Given the description of an element on the screen output the (x, y) to click on. 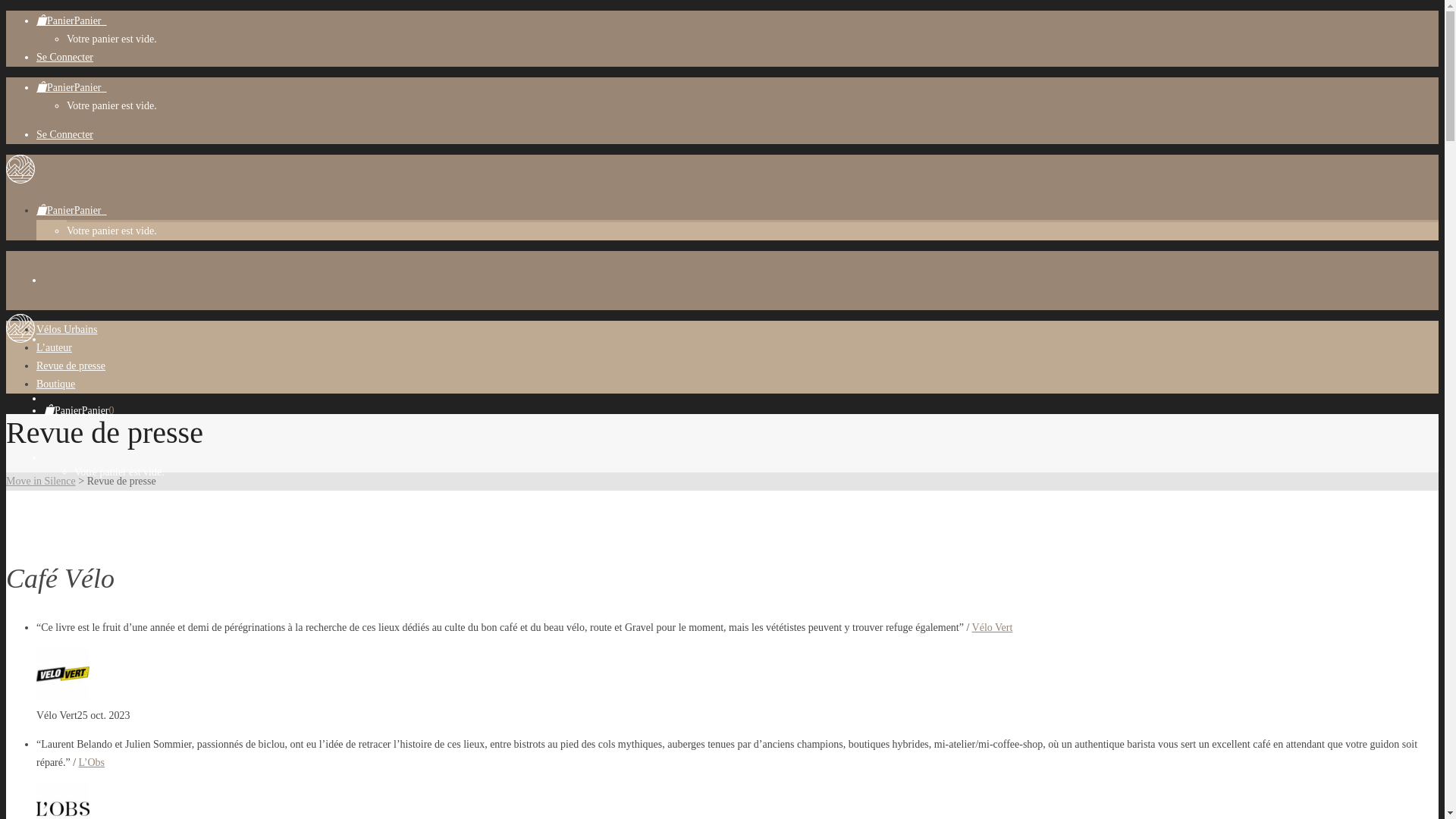
Menu Element type: text (25, 521)
PanierPanier0 Element type: text (71, 210)
PanierPanier0 Element type: text (71, 87)
PanierPanier0 Element type: text (78, 410)
Se Connecter Element type: text (64, 56)
Revue de presse Element type: text (70, 365)
Se Connecter Element type: text (64, 134)
Boutique Element type: text (55, 383)
PanierPanier0 Element type: text (71, 20)
Move in Silence Element type: text (40, 480)
